Given the description of an element on the screen output the (x, y) to click on. 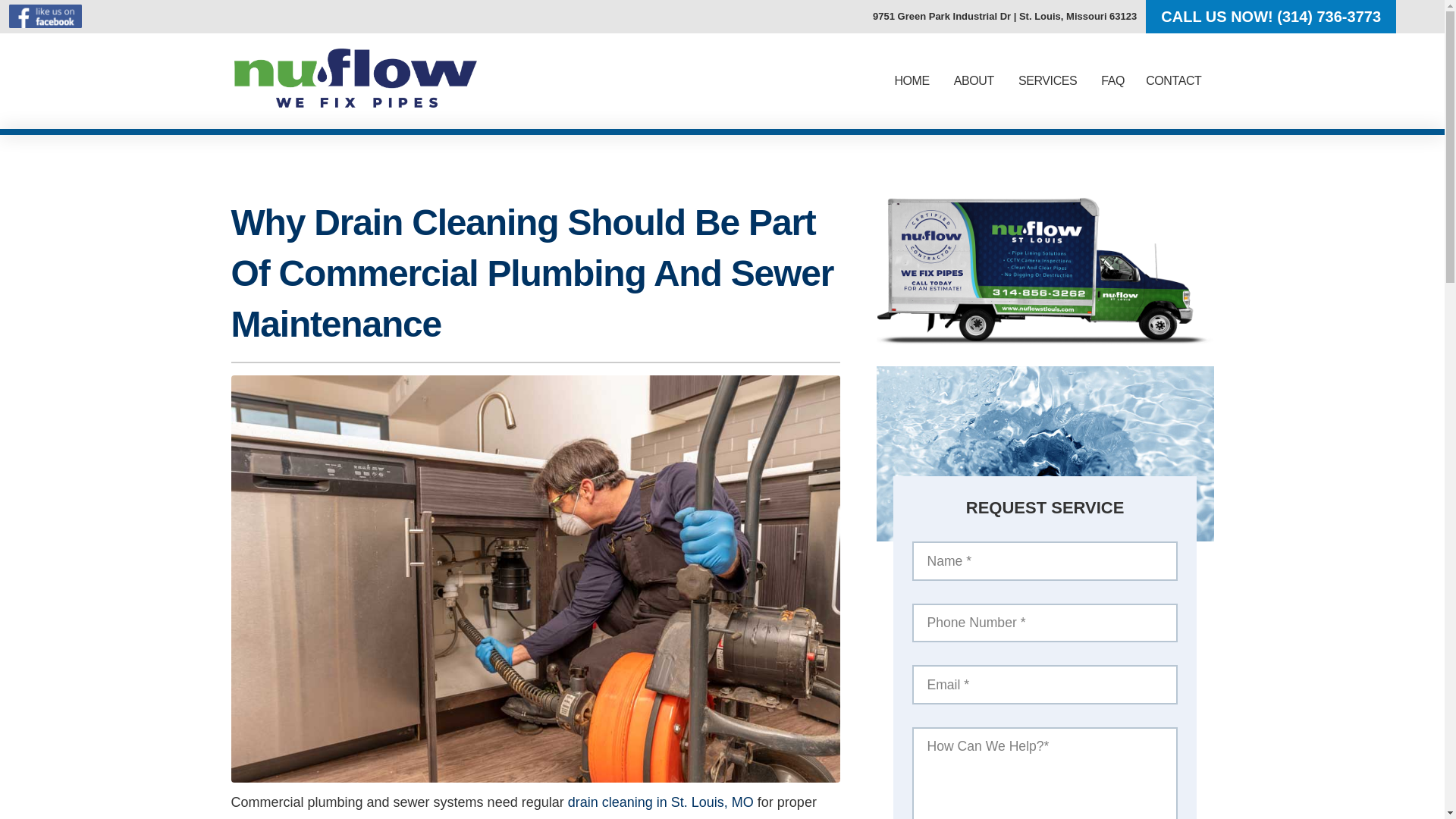
Nu Flow St. Louis (354, 77)
HOME (911, 81)
Nu Flow St. Louis (44, 15)
ABOUT (974, 81)
Go to home page (354, 102)
